Given the description of an element on the screen output the (x, y) to click on. 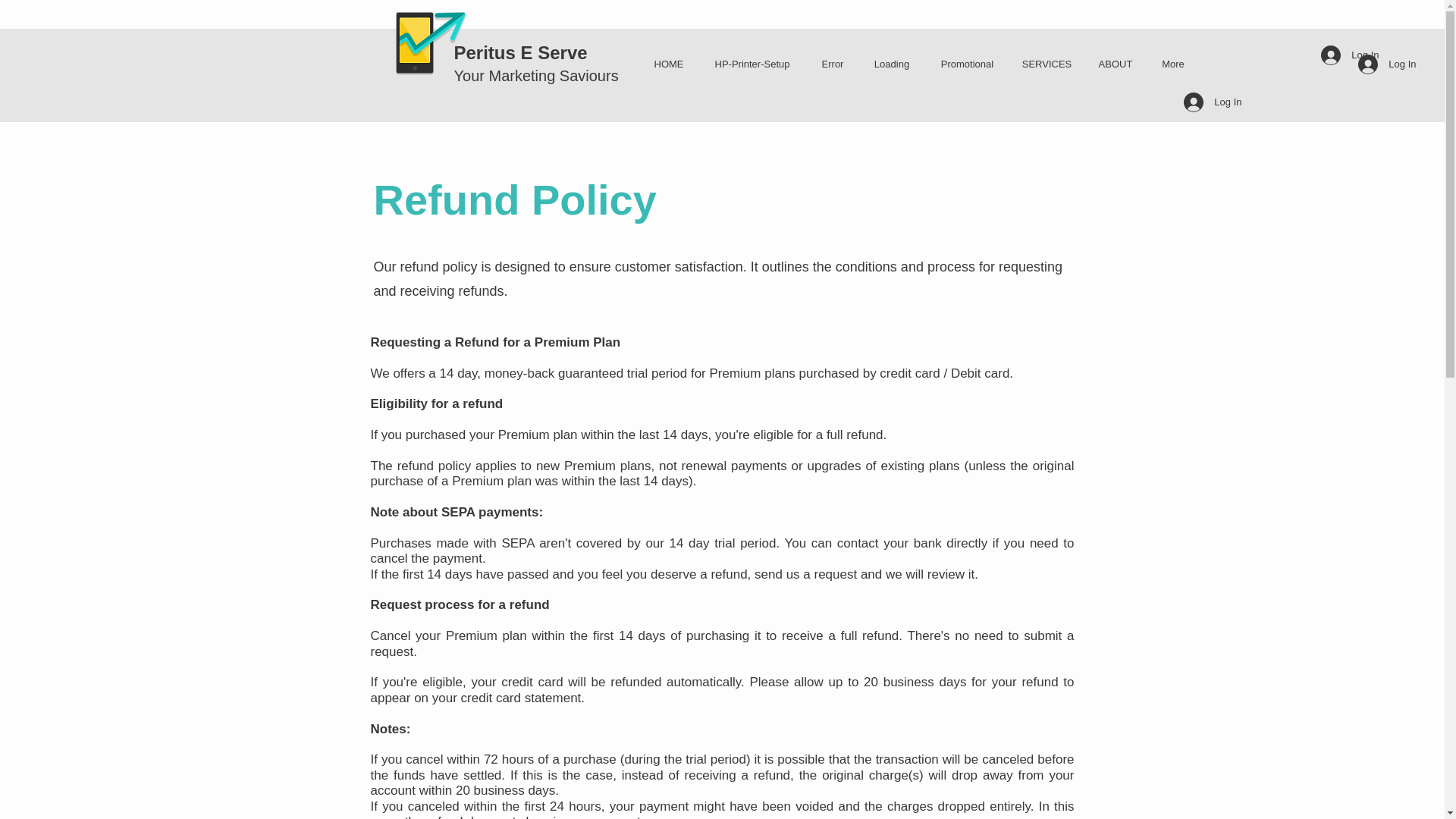
Your Marketing Saviours (534, 75)
Loading (891, 63)
HP-Printer-Setup (751, 63)
Error (832, 63)
Log In (1349, 54)
Log In (1212, 102)
Peritus E Serve (519, 52)
ABOUT (1115, 63)
Promotional (967, 63)
Log In (1387, 63)
